Given the description of an element on the screen output the (x, y) to click on. 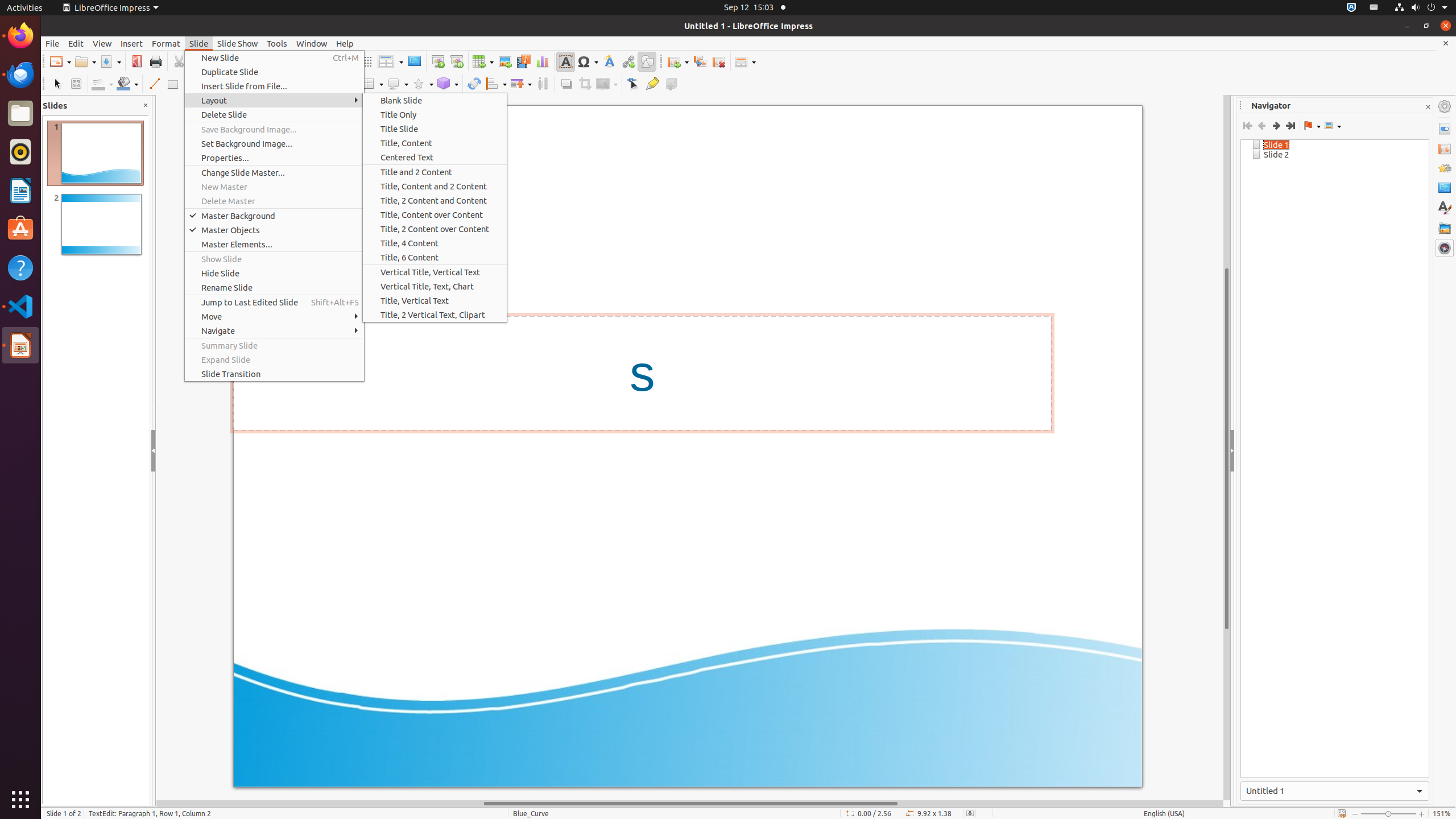
Rectangle Element type: push-button (172, 83)
LibreOffice Impress Element type: push-button (20, 344)
Zoom & Pan Element type: push-button (75, 83)
Title, 6 Content Element type: menu-item (434, 257)
Centered Text Element type: menu-item (434, 157)
